Given the description of an element on the screen output the (x, y) to click on. 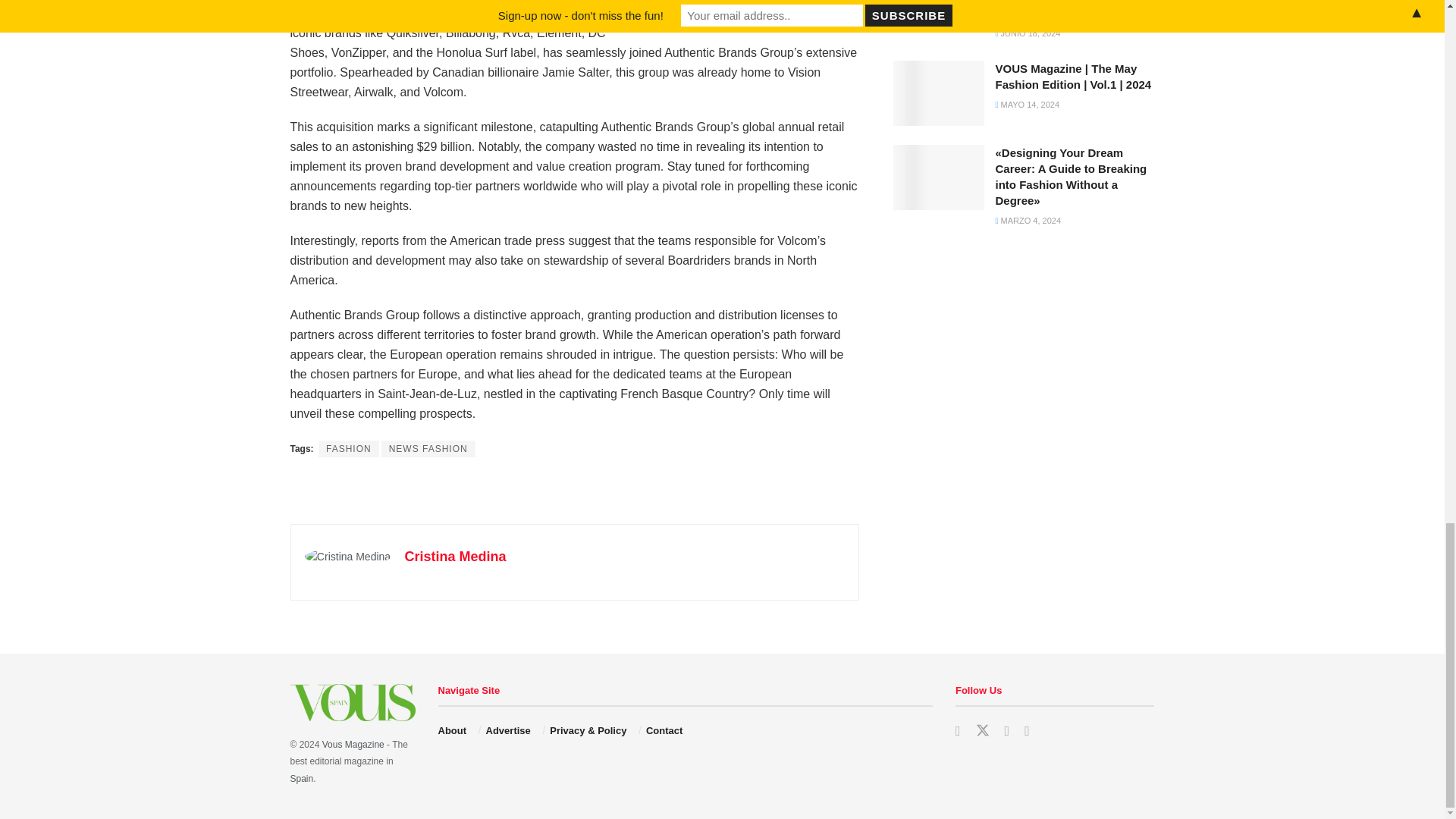
Vous Magazine (301, 778)
